Given the description of an element on the screen output the (x, y) to click on. 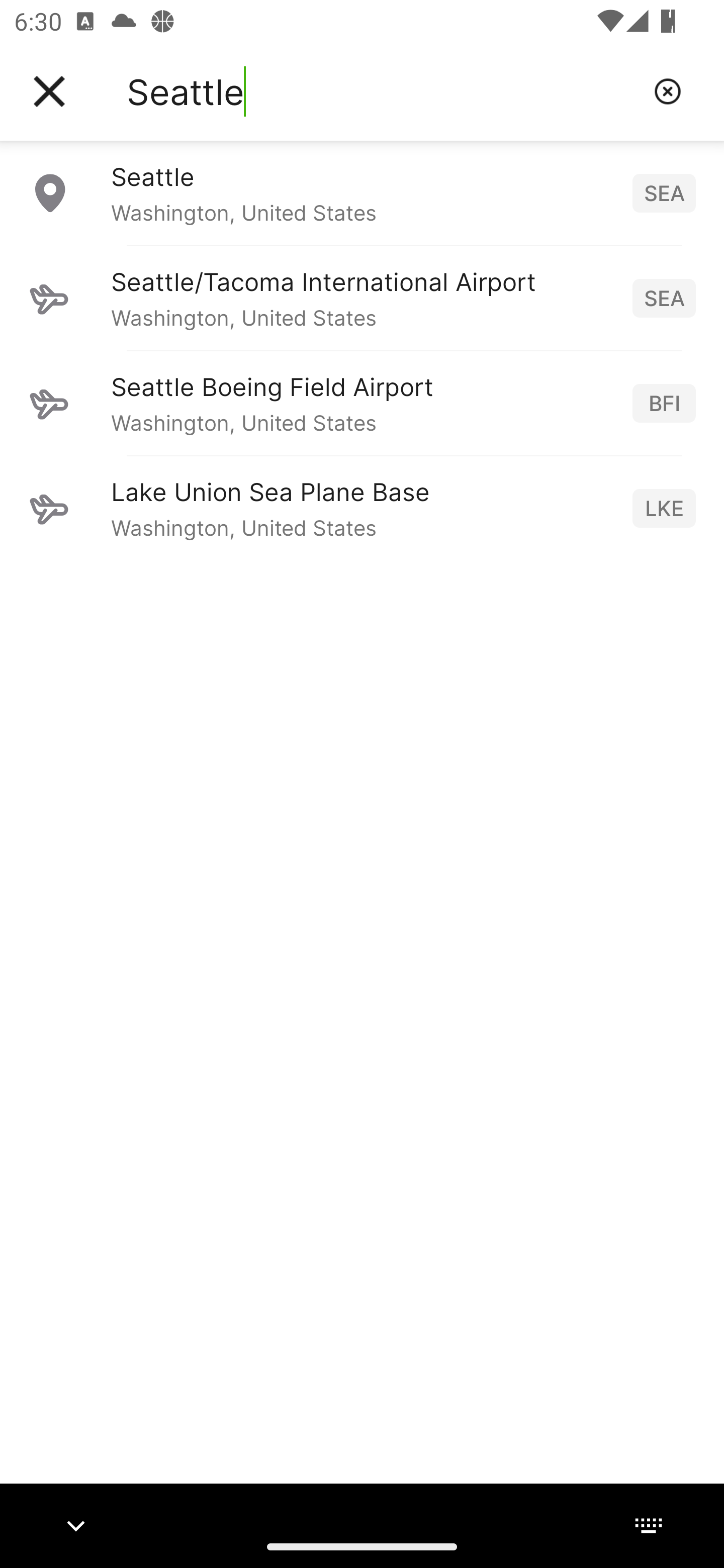
Seattle (382, 91)
Seattle Washington, United States SEA (362, 192)
